Given the description of an element on the screen output the (x, y) to click on. 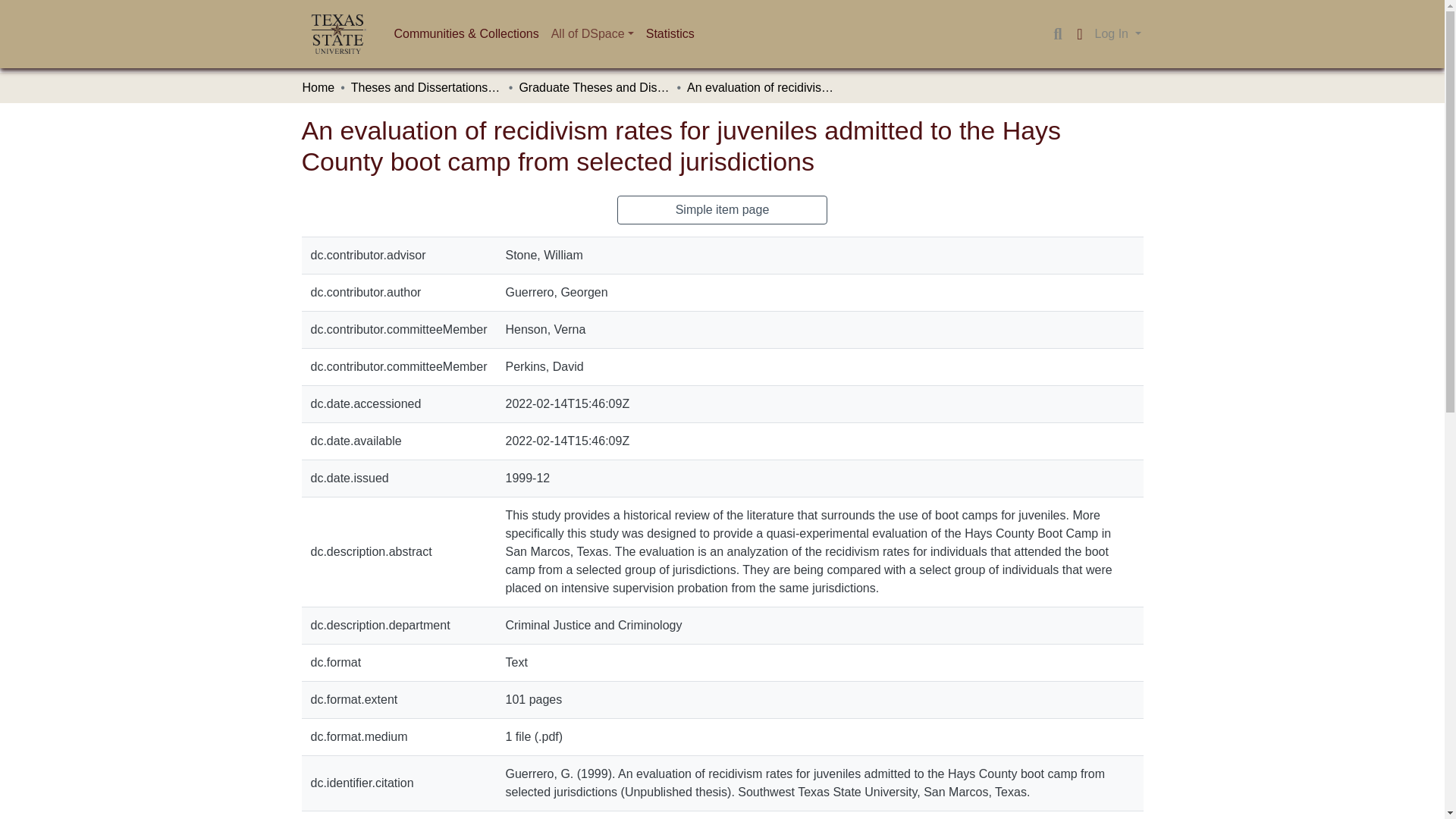
Log In (1117, 33)
Statistics (670, 33)
All of DSpace (592, 33)
Theses and Dissertations, Capstones, and Directed Research (426, 87)
Simple item page (722, 209)
Graduate Theses and Dissertations (593, 87)
Statistics (670, 33)
Home (317, 87)
Search (1057, 34)
Language switch (1079, 34)
